Given the description of an element on the screen output the (x, y) to click on. 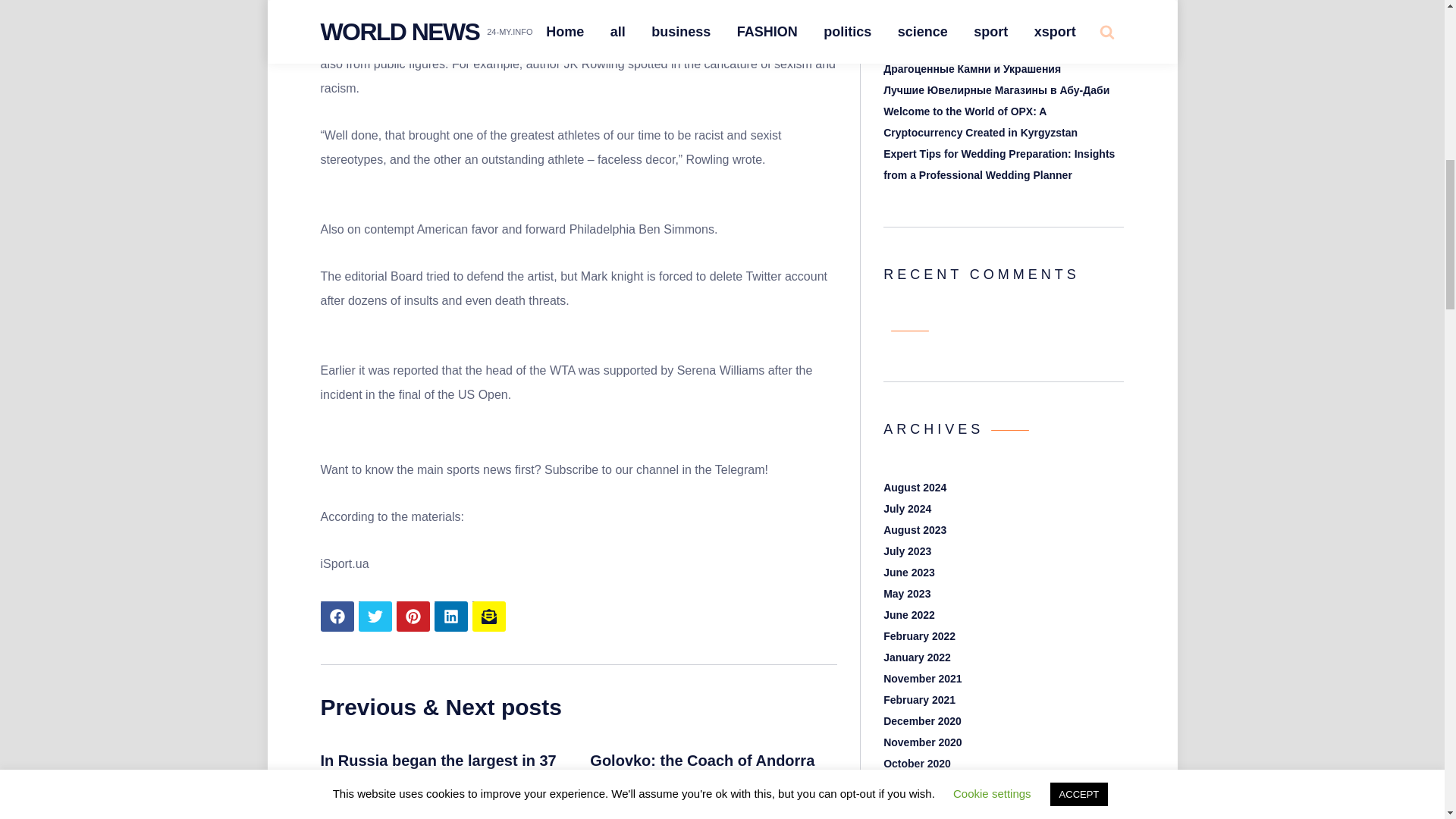
May 2023 (906, 593)
July 2024 (907, 508)
August 2023 (914, 530)
June 2023 (908, 572)
June 2022 (908, 614)
July 2023 (907, 551)
August 2024 (914, 487)
February 2022 (919, 635)
